Given the description of an element on the screen output the (x, y) to click on. 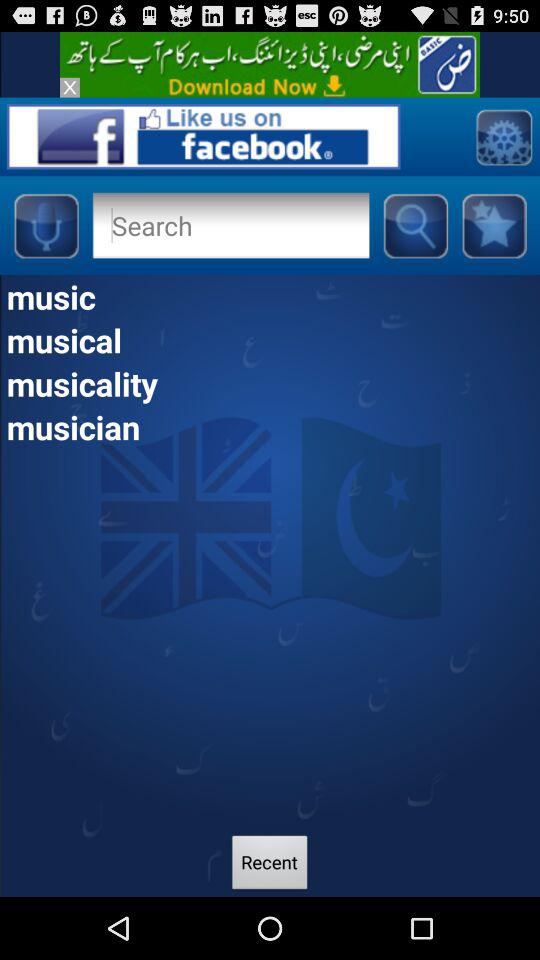
select app below the musician (269, 864)
